Given the description of an element on the screen output the (x, y) to click on. 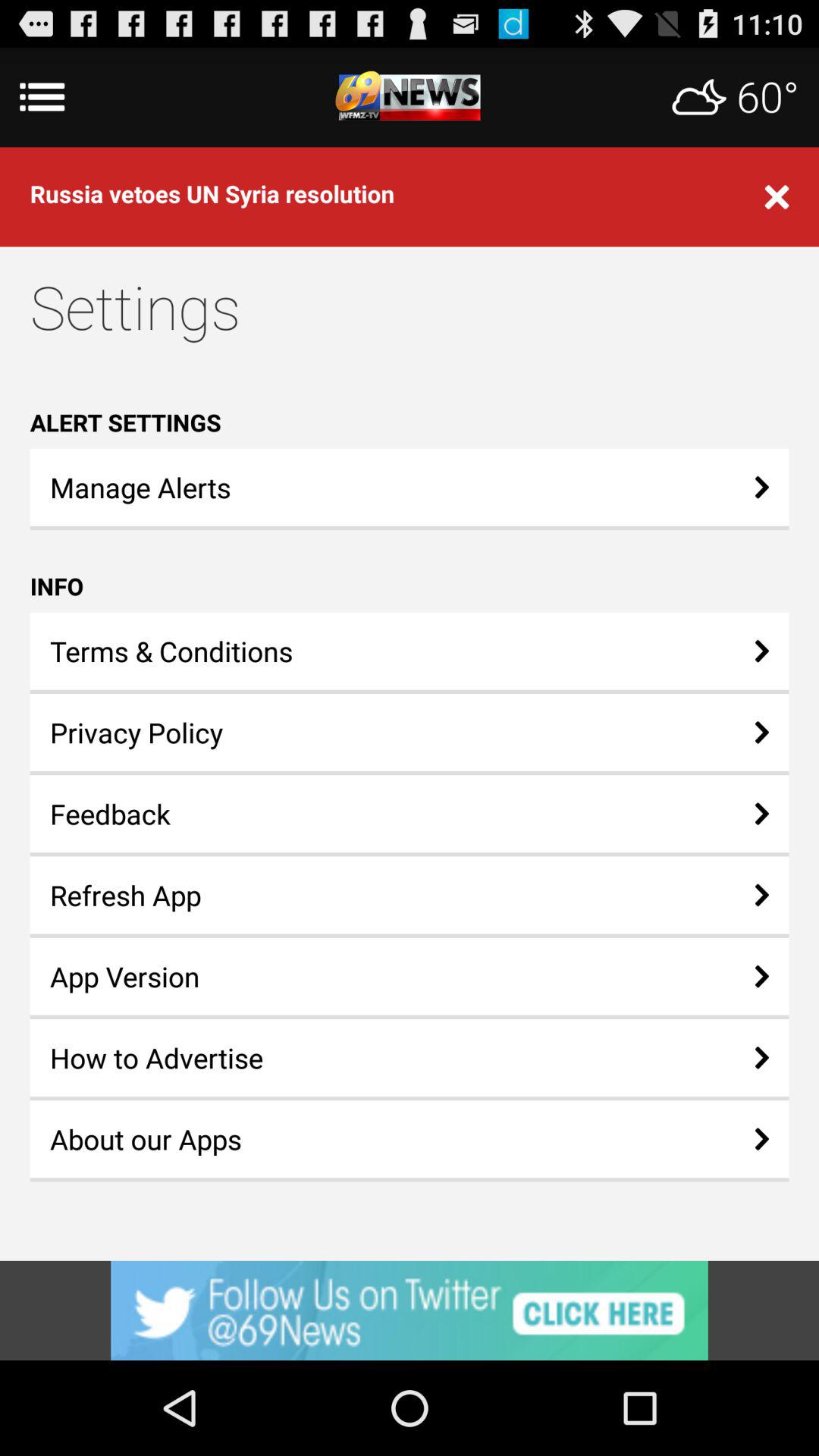
advertisement (409, 1310)
